Given the description of an element on the screen output the (x, y) to click on. 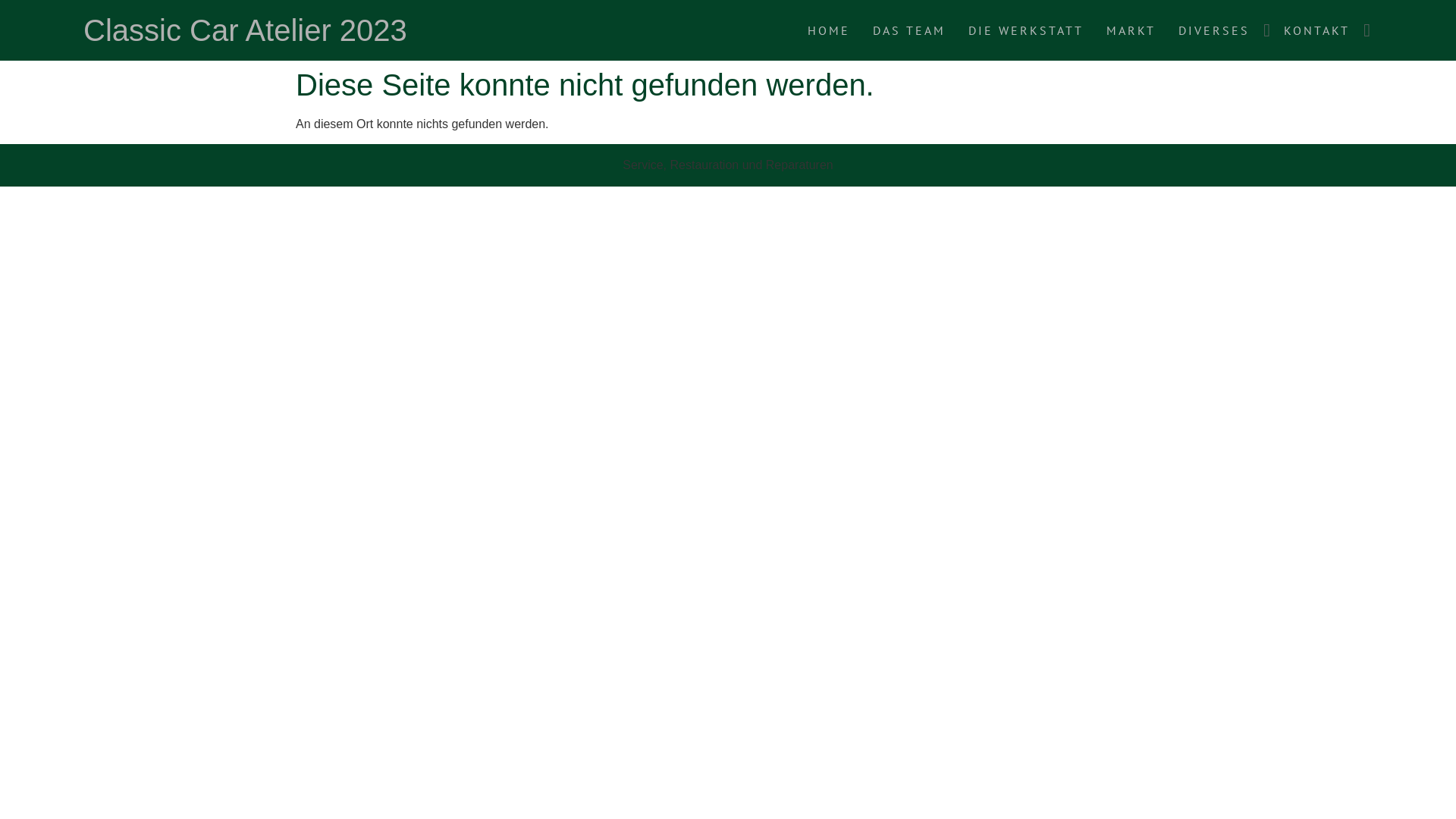
DIVERSES Element type: text (1214, 29)
Classic Car Atelier 2023 Element type: text (245, 30)
DIE WERKSTATT Element type: text (1026, 29)
HOME Element type: text (828, 29)
KONTAKT Element type: text (1316, 29)
MARKT Element type: text (1131, 29)
DAS TEAM Element type: text (909, 29)
